Given the description of an element on the screen output the (x, y) to click on. 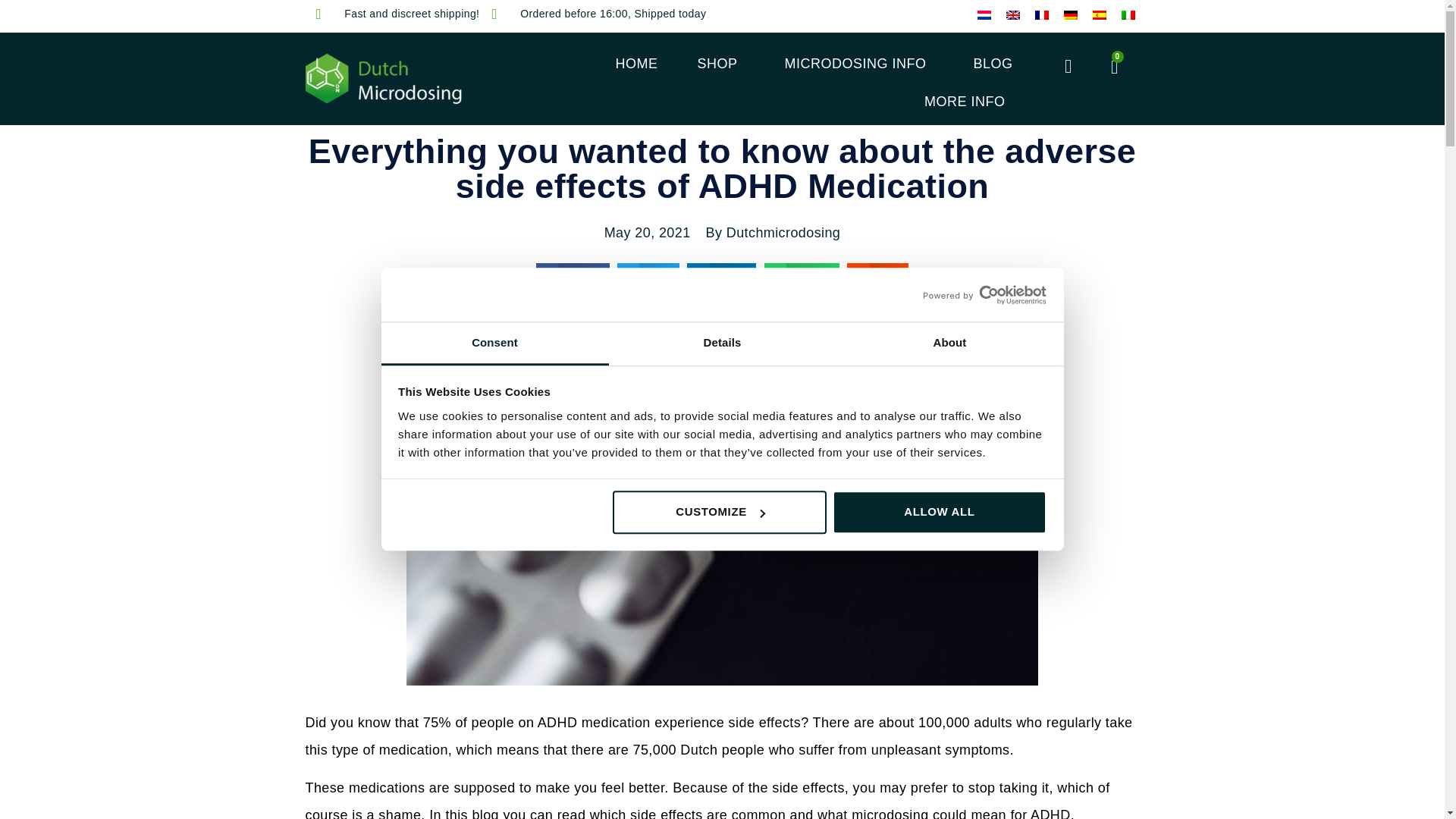
ALLOW ALL (939, 512)
CUSTOMIZE (719, 512)
Details (721, 343)
About (948, 343)
Consent (494, 343)
